Given the description of an element on the screen output the (x, y) to click on. 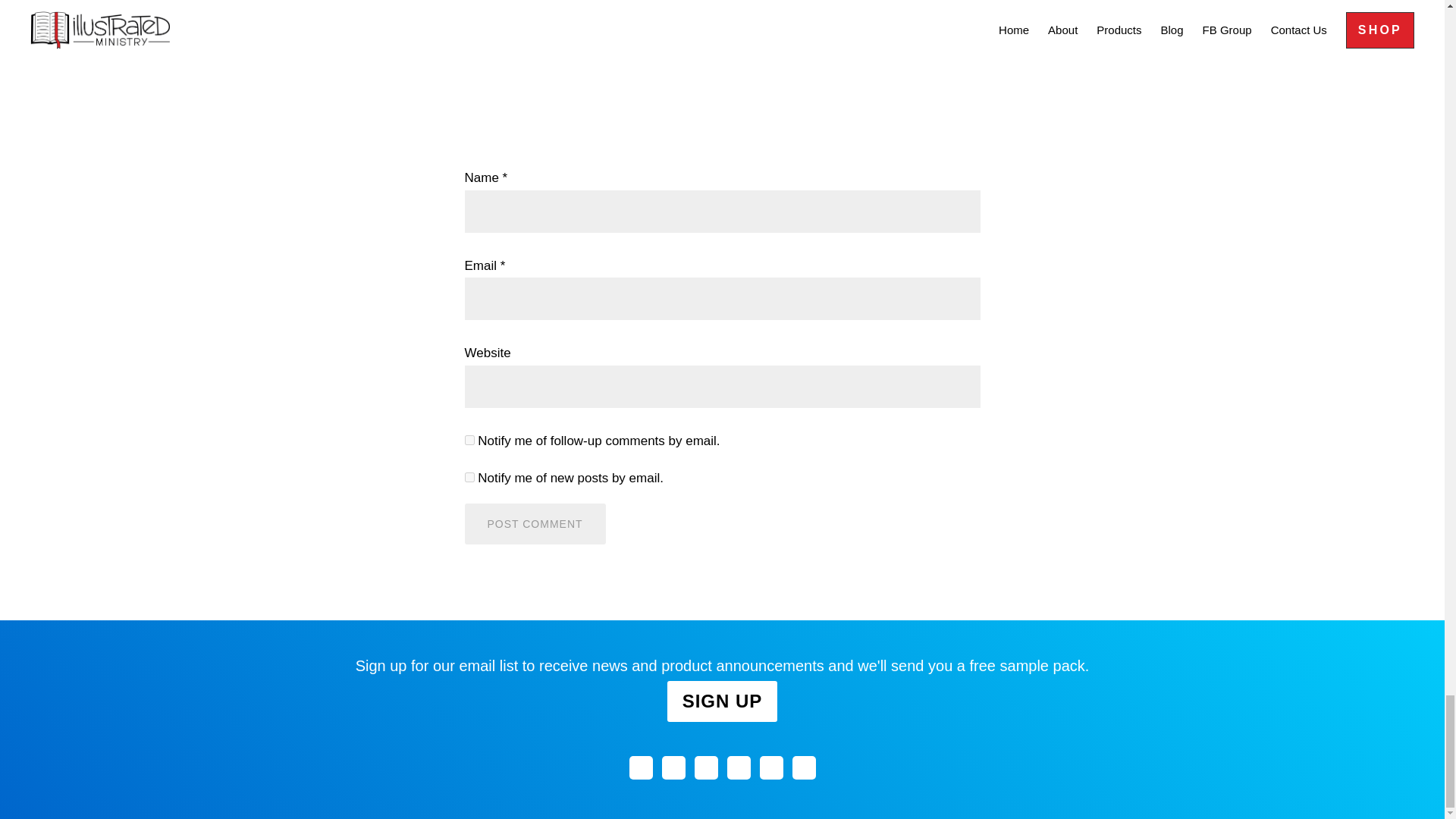
subscribe (469, 477)
subscribe (469, 439)
Post Comment (534, 523)
